Given the description of an element on the screen output the (x, y) to click on. 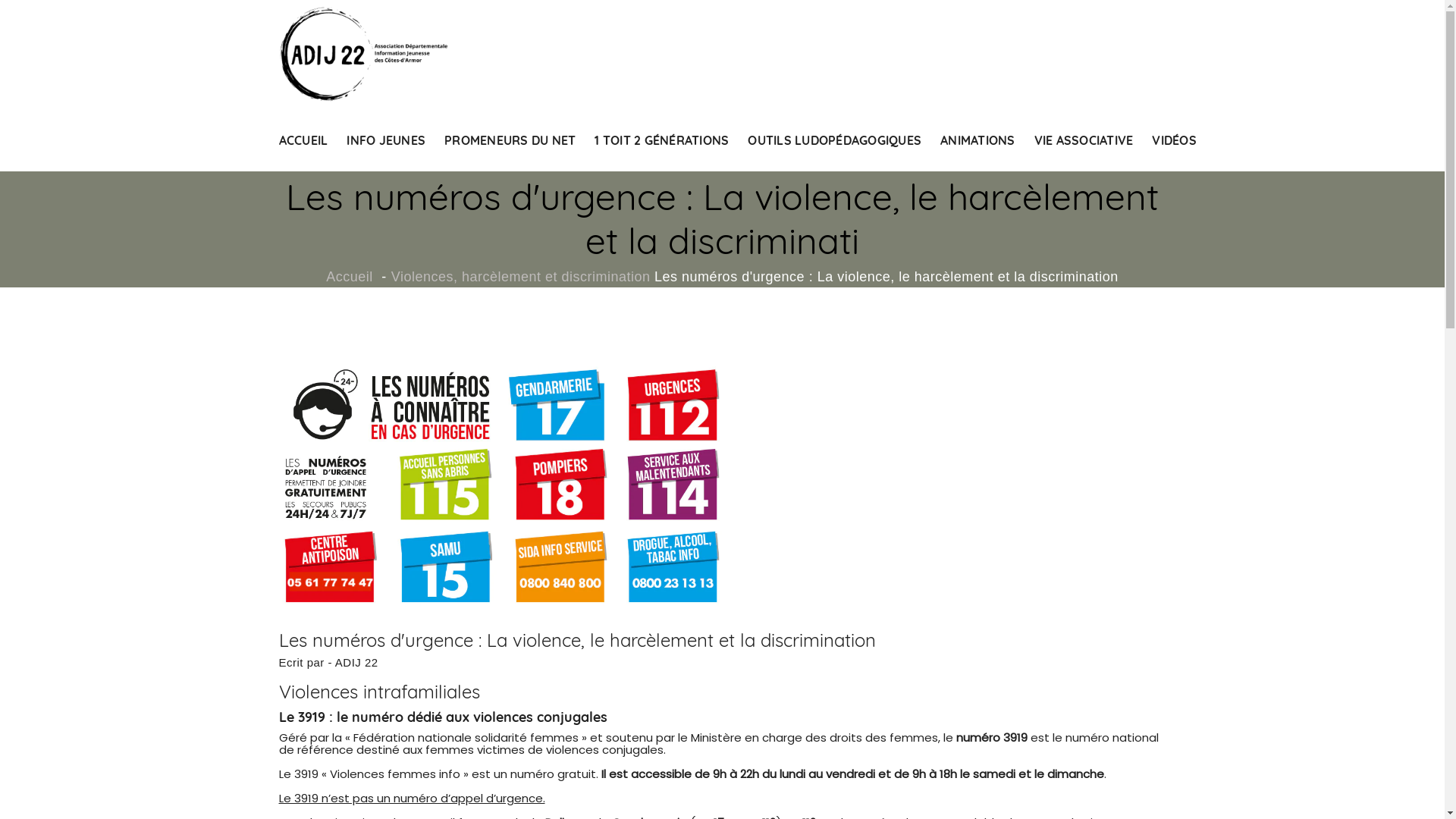
ACCUEIL Element type: text (303, 139)
PROMENEURS DU NET Element type: text (509, 139)
Accueil Element type: text (349, 276)
INFO JEUNES Element type: text (385, 139)
femmes victimes de violences conjugales Element type: text (543, 749)
VIE ASSOCIATIVE Element type: text (1083, 139)
ANIMATIONS Element type: text (977, 139)
